Given the description of an element on the screen output the (x, y) to click on. 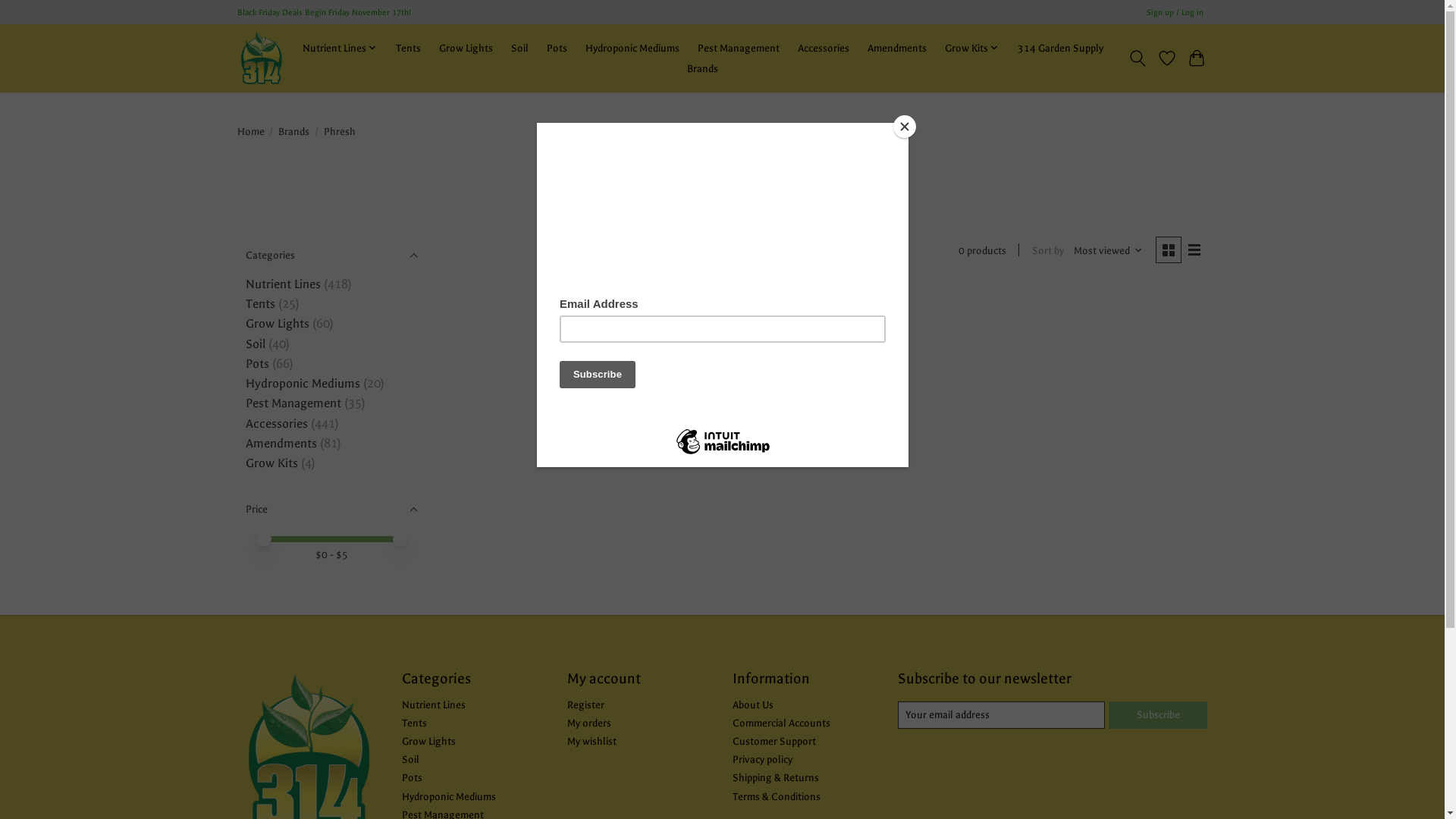
Hydroponic Mediums Element type: text (448, 796)
Price Element type: text (331, 509)
Amendments Element type: text (280, 443)
Soil Element type: text (519, 47)
Subscribe Element type: text (1157, 714)
Pots Element type: text (257, 363)
Soil Element type: text (255, 344)
Accessories Element type: text (276, 423)
Customer Support Element type: text (773, 740)
Terms & Conditions Element type: text (776, 796)
Nutrient Lines Element type: text (433, 704)
Grow Lights Element type: text (428, 740)
Pest Management Element type: text (293, 403)
Commercial Accounts Element type: text (781, 722)
My orders Element type: text (589, 722)
Pots Element type: text (411, 777)
Sign up / Log in Element type: text (1174, 12)
314 Garden Supply Element type: text (1059, 47)
Grow Lights Element type: text (277, 323)
Tents Element type: text (413, 722)
Categories Element type: text (331, 254)
Privacy policy Element type: text (762, 759)
Brands Element type: text (293, 131)
Accessories Element type: text (823, 47)
Most viewed Element type: text (1107, 250)
Tents Element type: text (260, 303)
Nutrient Lines Element type: text (282, 284)
Amendments Element type: text (896, 47)
Nutrient Lines Element type: text (339, 47)
Shipping & Returns Element type: text (775, 777)
Register Element type: text (585, 704)
Soil Element type: text (410, 759)
My wishlist Element type: text (591, 740)
Hydroponic Mediums Element type: text (302, 383)
Grow Kits Element type: text (271, 463)
Brands Element type: text (702, 68)
Hydroponic Mediums Element type: text (632, 47)
Grow Kits Element type: text (971, 47)
Tents Element type: text (407, 47)
Grow Lights Element type: text (465, 47)
About Us Element type: text (752, 704)
Pest Management Element type: text (738, 47)
Pots Element type: text (556, 47)
Home Element type: text (249, 131)
314 Garden Supply Element type: hover (260, 57)
